Given the description of an element on the screen output the (x, y) to click on. 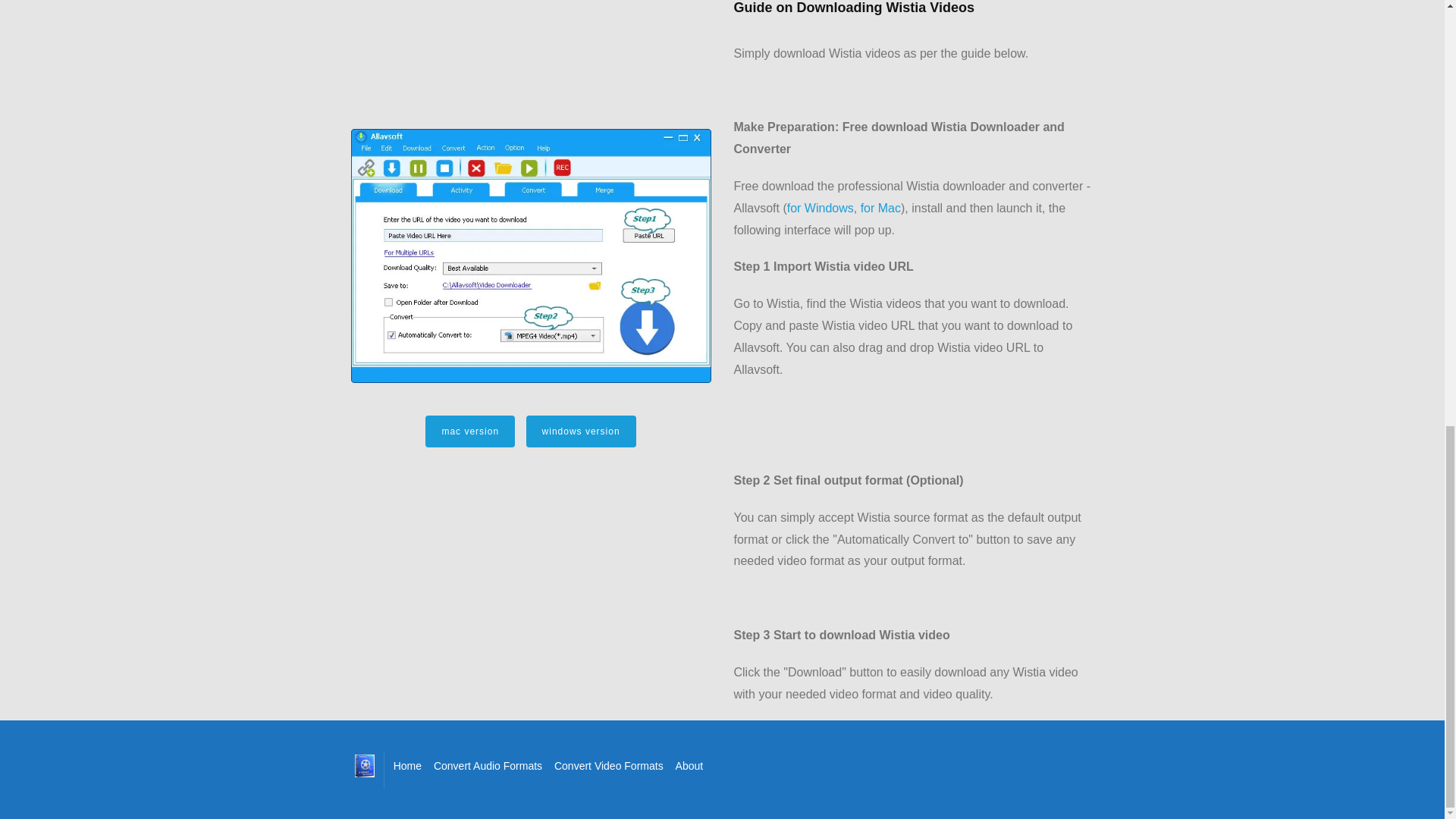
Convert Video Formats (608, 765)
for Windows (820, 207)
windows version (580, 431)
mac version (470, 431)
Convert Audio Formats (487, 765)
for Mac (880, 207)
About (689, 765)
Home (407, 765)
